Given the description of an element on the screen output the (x, y) to click on. 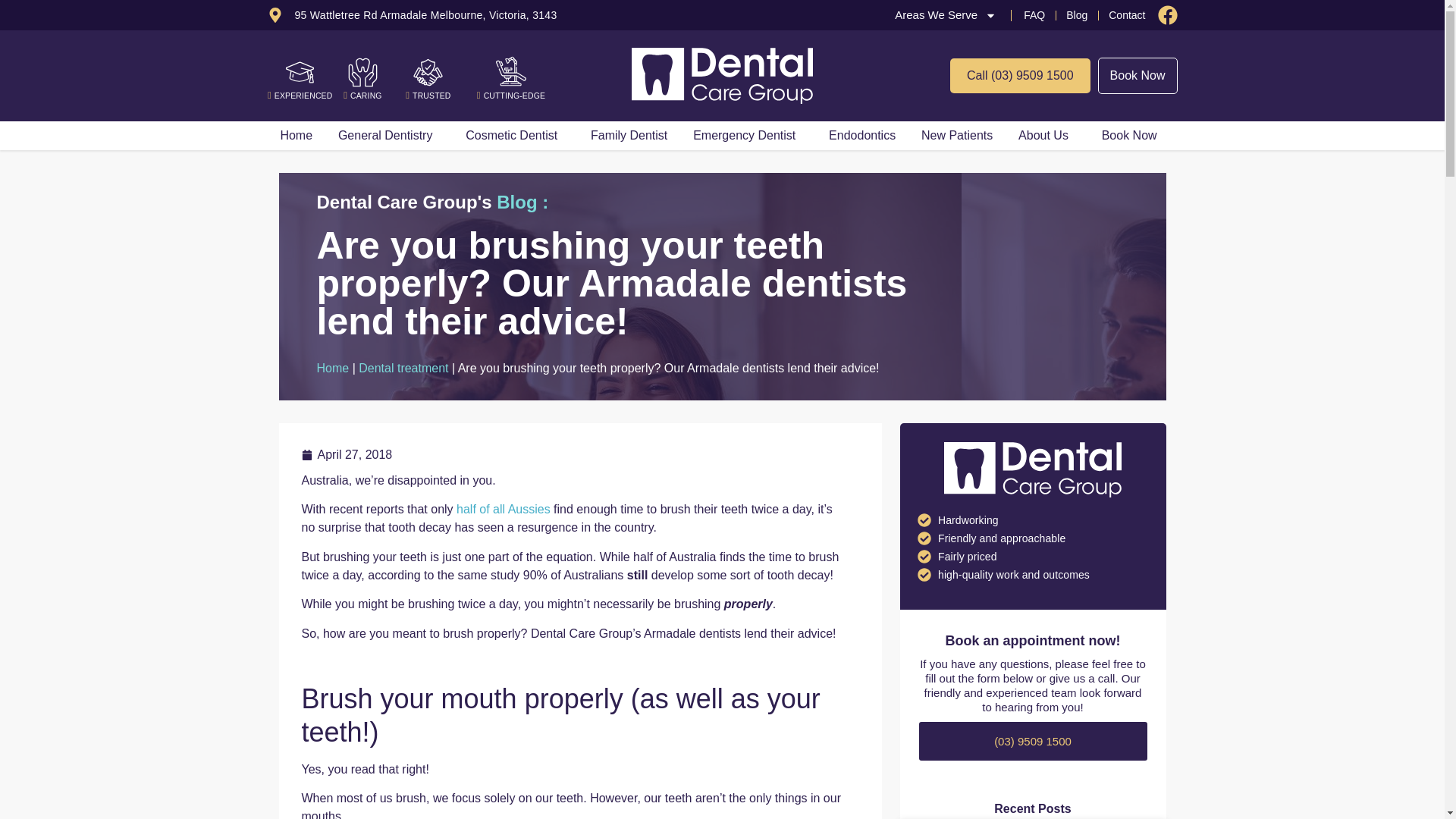
(03) 9509 1500 Element type: text (1033, 740)
Emergency Dentist Element type: text (747, 135)
Call (03) 9509 1500 Element type: text (1020, 75)
Home Element type: text (295, 135)
General Dentistry Element type: text (388, 135)
Blog Element type: text (1076, 15)
95 Wattletree Rd Armadale Melbourne, Victoria, 3143 Element type: text (411, 15)
Contact Element type: text (1126, 15)
About Us Element type: text (1046, 135)
FAQ Element type: text (1033, 15)
Areas We Serve Element type: text (945, 14)
Book Now Element type: text (1132, 135)
Cosmetic Dentist Element type: text (514, 135)
Dental treatment Element type: text (403, 367)
New Patients Element type: text (956, 135)
Home Element type: text (332, 367)
April 27, 2018 Element type: text (346, 454)
Endodontics Element type: text (861, 135)
Family Dentist Element type: text (628, 135)
Book Now Element type: text (1137, 75)
half of all Aussies Element type: text (503, 508)
